Given the description of an element on the screen output the (x, y) to click on. 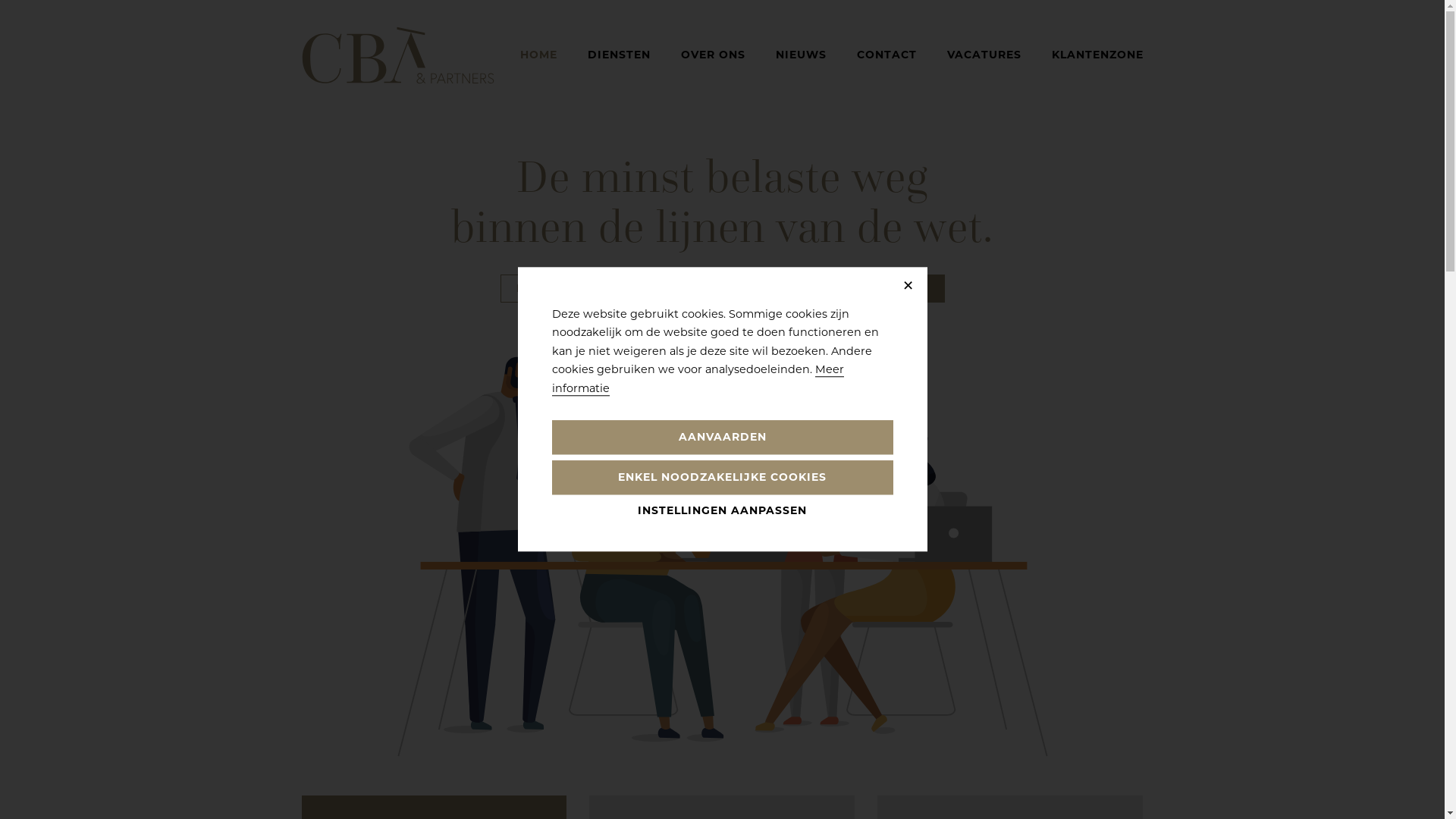
WIE ZIJN WE Element type: text (734, 288)
Meer informatie Element type: text (698, 379)
DIENSTEN Element type: text (617, 54)
KLANTENZONE Element type: text (1096, 54)
HOME Element type: text (538, 54)
CBA & Partners - Boekhouding & advies Element type: hover (397, 55)
INSTELLINGEN AANPASSEN Element type: text (722, 511)
CONTACT Element type: text (886, 54)
NIEUWS Element type: text (800, 54)
VACATURES Element type: text (881, 288)
OVER ONS Element type: text (712, 54)
VACATURES Element type: text (983, 54)
AANVAARDEN Element type: text (722, 437)
HOE DOEN WE DIT Element type: text (574, 288)
ENKEL NOODZAKELIJKE COOKIES Element type: text (722, 478)
